Given the description of an element on the screen output the (x, y) to click on. 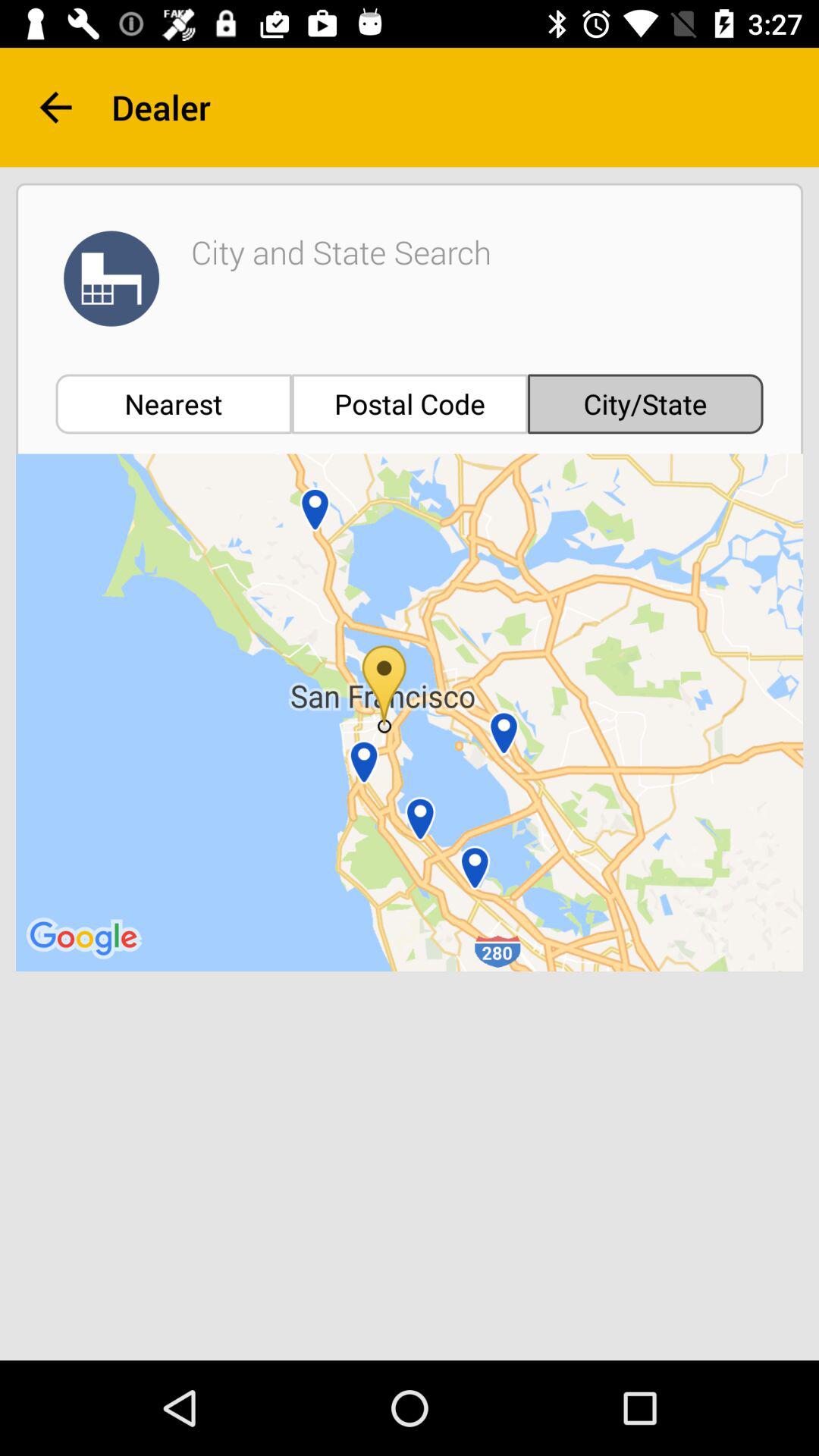
turn off the item to the right of nearest (409, 403)
